Given the description of an element on the screen output the (x, y) to click on. 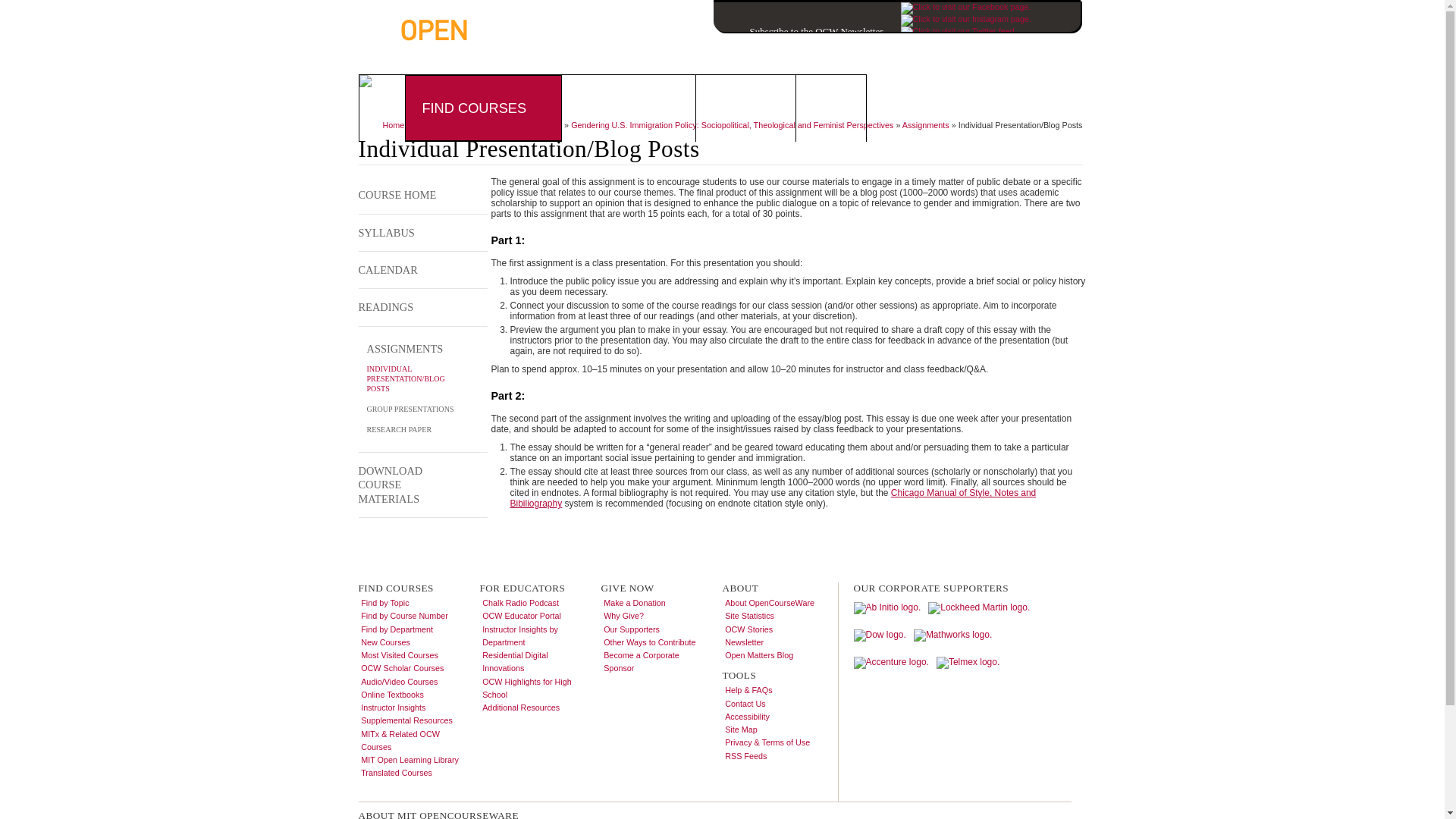
Give Now (736, 107)
Contact Us (1048, 54)
FIND COURSES (473, 107)
Help (1001, 54)
Subscribe to the OCW Newsletter (797, 30)
For Educators (619, 107)
